Given the description of an element on the screen output the (x, y) to click on. 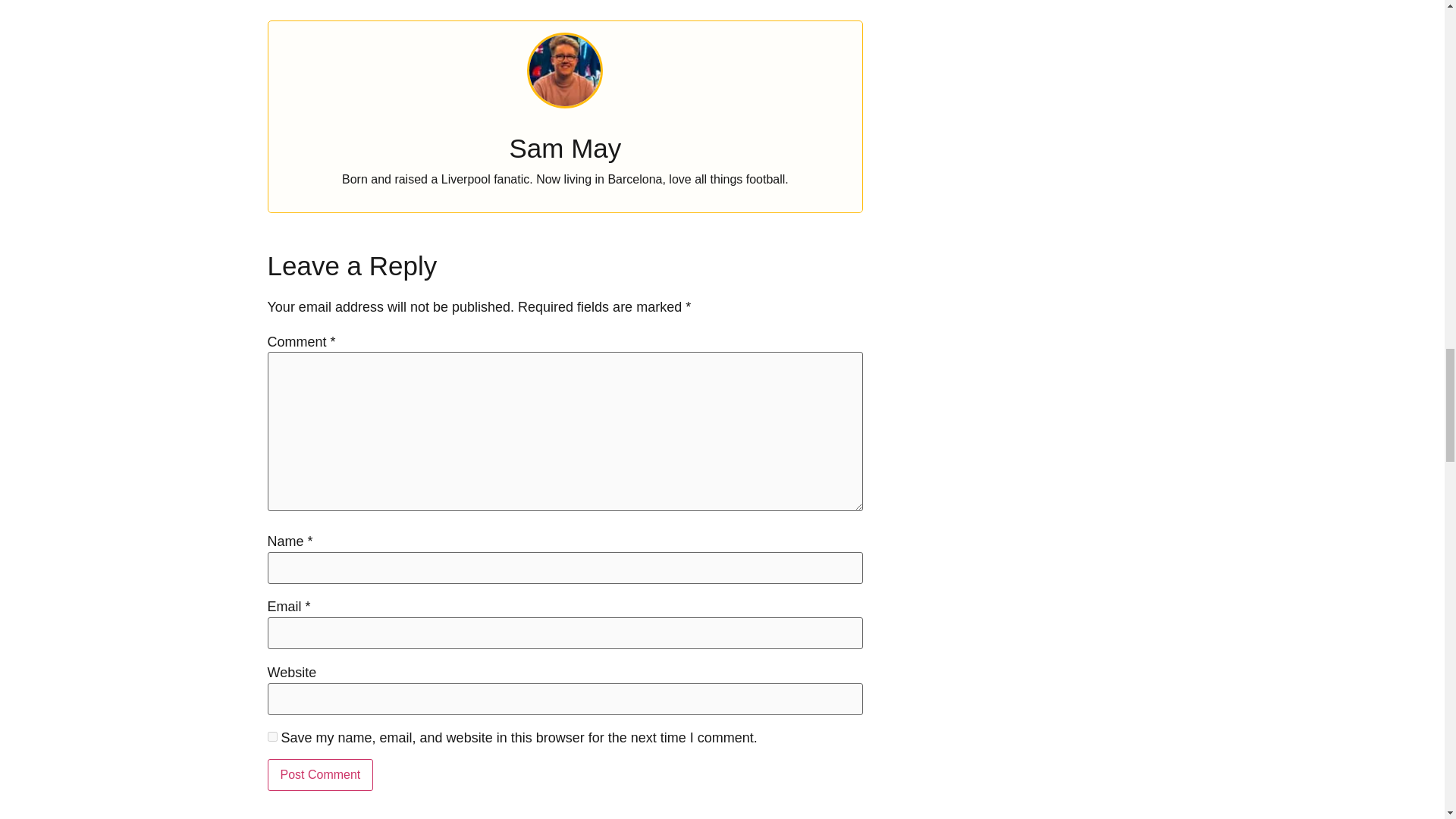
yes (271, 737)
Post Comment (319, 775)
